Given the description of an element on the screen output the (x, y) to click on. 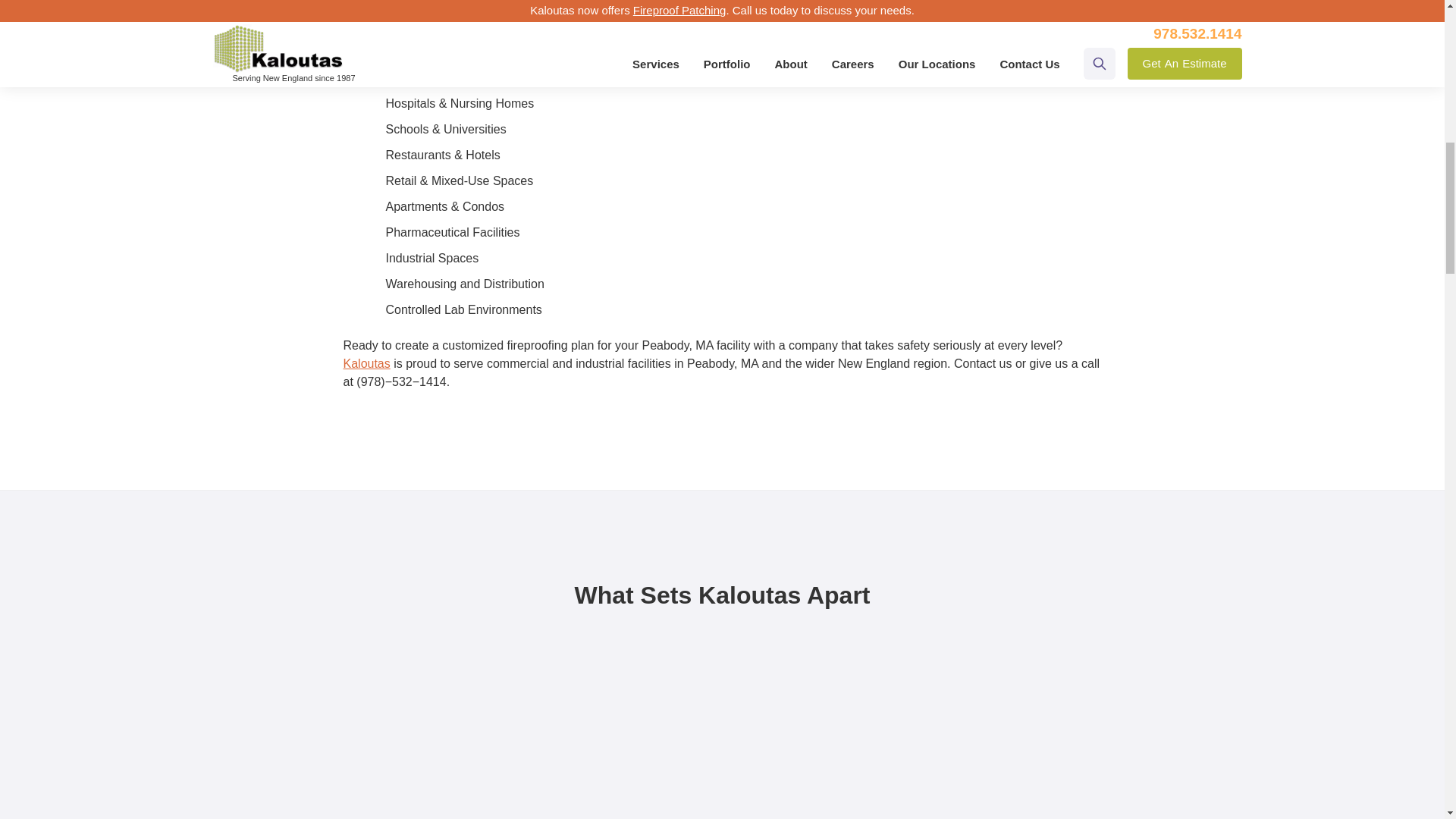
Kaloutas (366, 363)
